Given the description of an element on the screen output the (x, y) to click on. 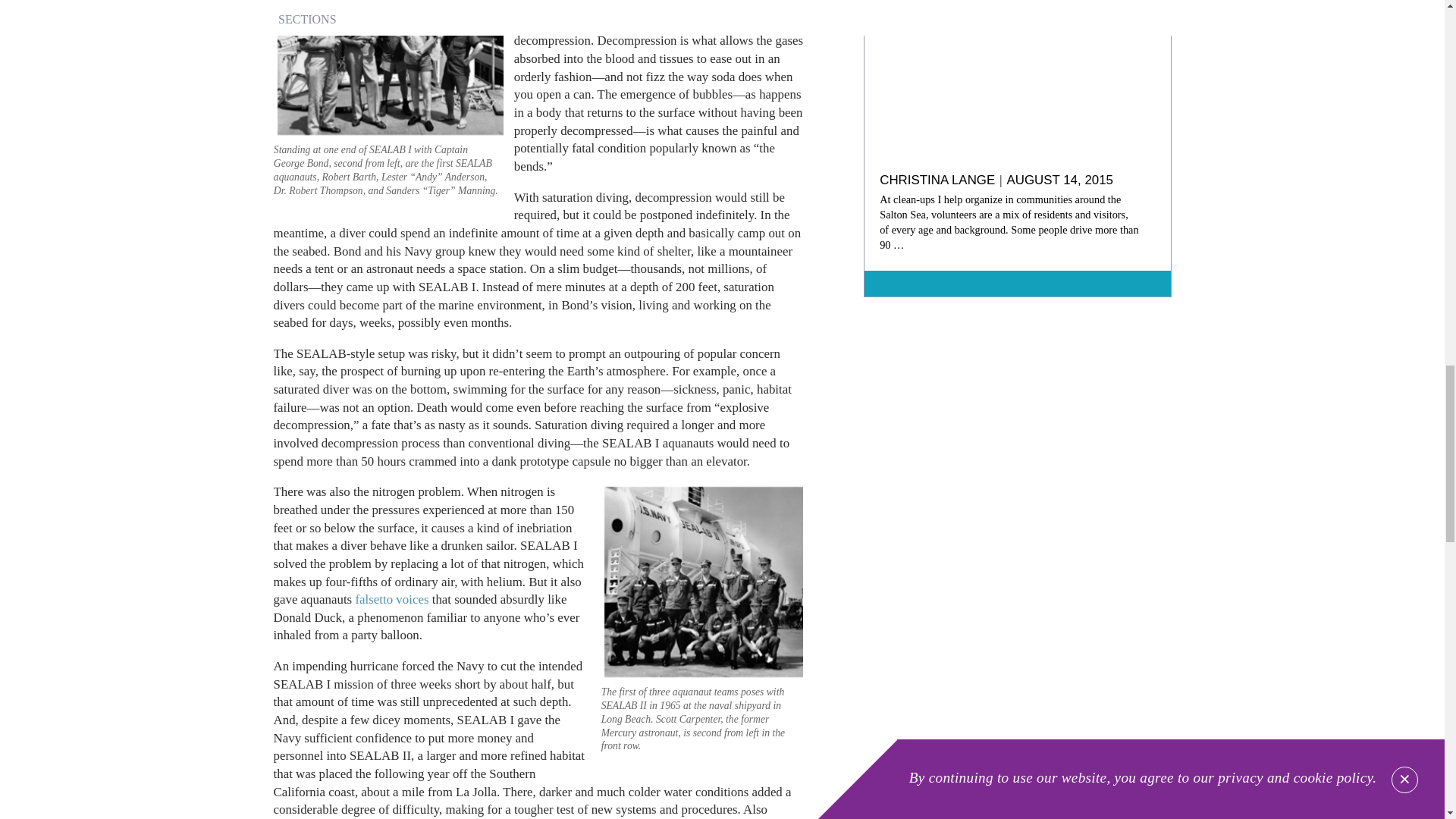
Saving Nature, One Plastic Bag at a Time (1016, 81)
